Given the description of an element on the screen output the (x, y) to click on. 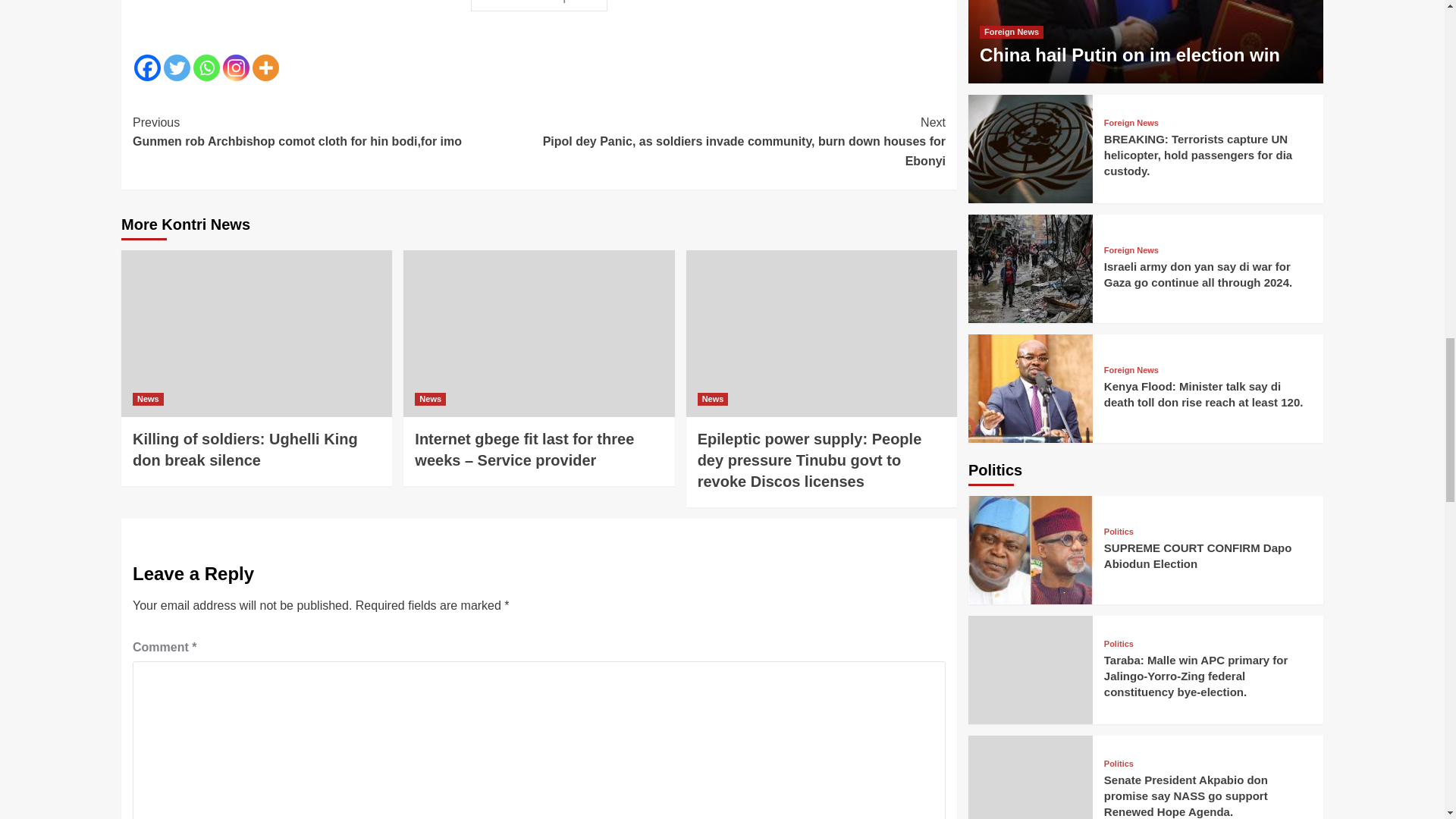
More (265, 67)
See author's posts (539, 5)
Whatsapp (206, 67)
Instagram (235, 67)
Twitter (176, 67)
Facebook (146, 67)
